Given the description of an element on the screen output the (x, y) to click on. 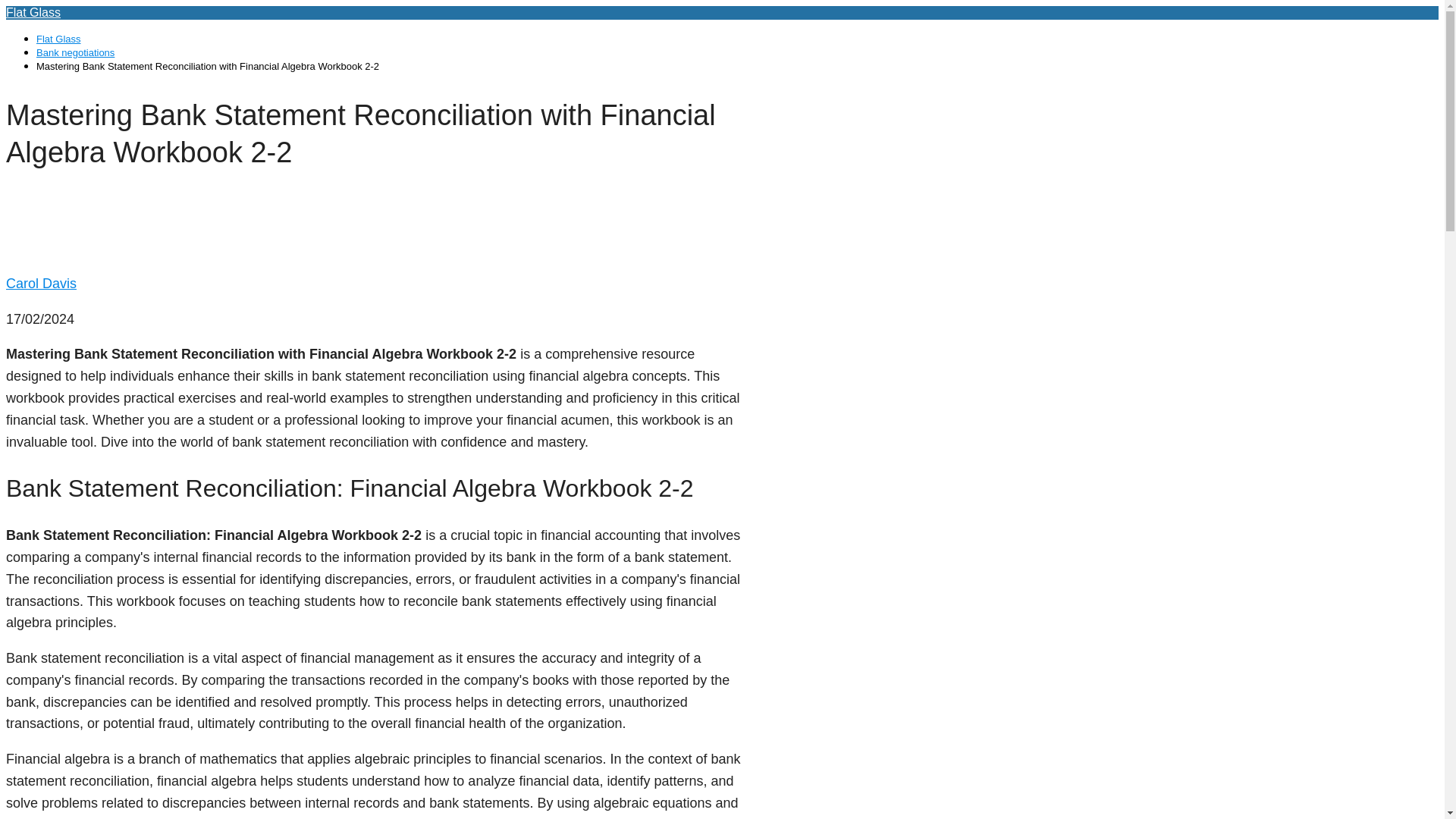
Carol Davis (41, 283)
Bank negotiations (75, 52)
Flat Glass (33, 11)
Flat Glass (58, 39)
